Given the description of an element on the screen output the (x, y) to click on. 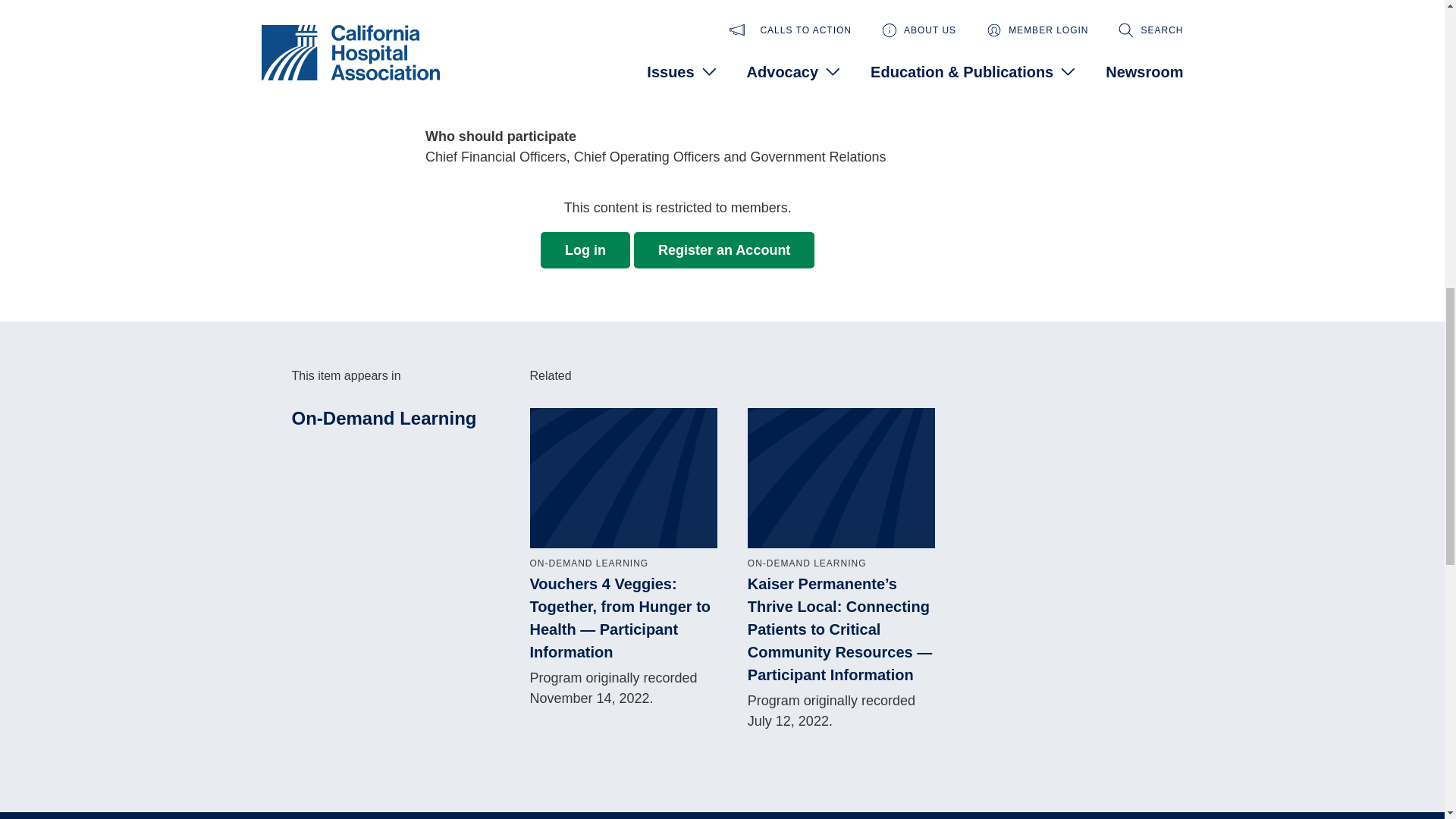
Log in (585, 249)
